Given the description of an element on the screen output the (x, y) to click on. 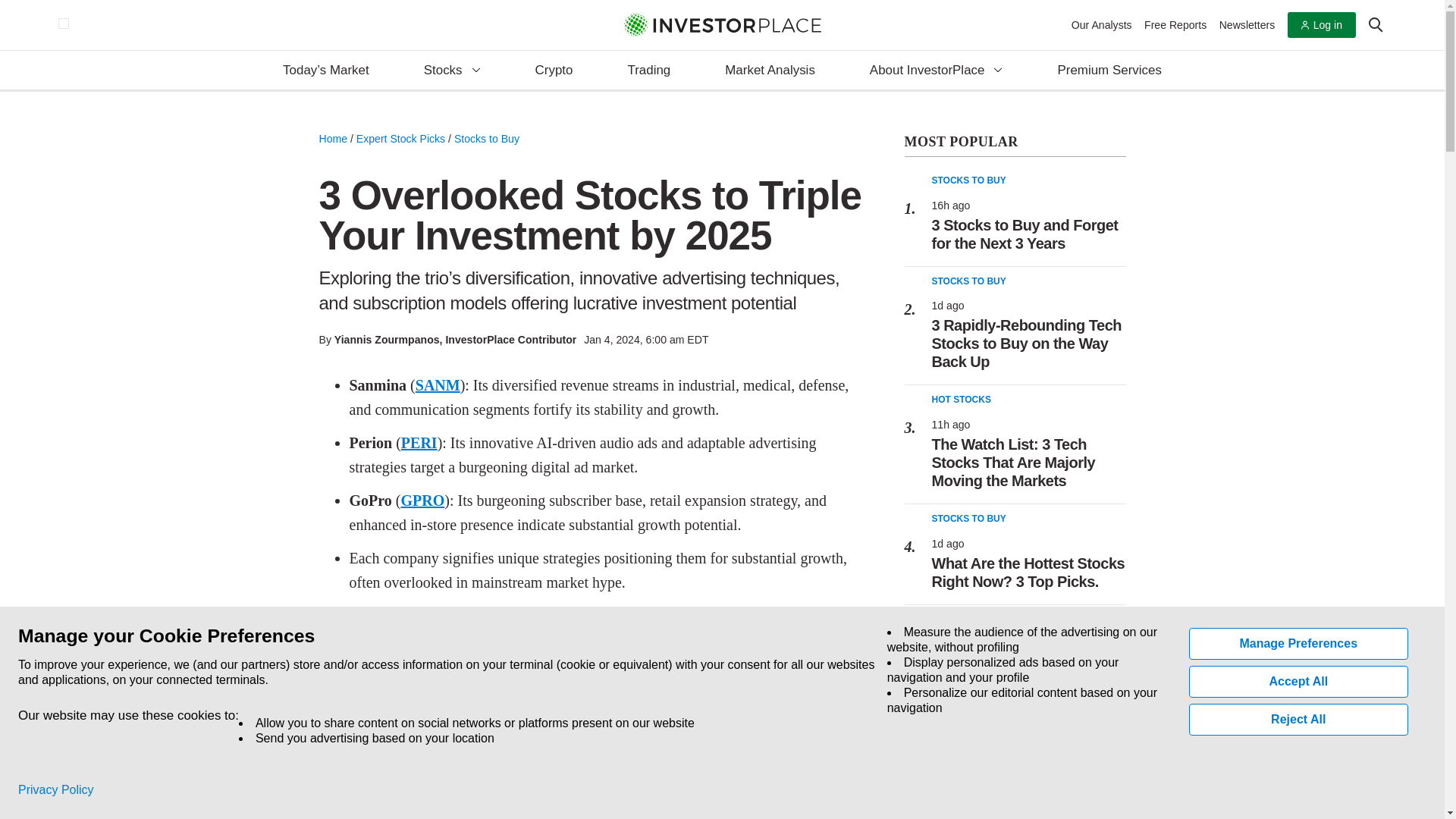
Accept All (1299, 681)
Log in (1321, 25)
View Most Read Content (1014, 142)
Free Reports (1175, 24)
Our Analysts (1101, 24)
Stocks (452, 70)
Newsletters (1247, 24)
Manage Preferences (1299, 644)
Privacy Policy (55, 789)
View profile of Yiannis Zourmpanos (386, 339)
Reject All (1299, 719)
